Given the description of an element on the screen output the (x, y) to click on. 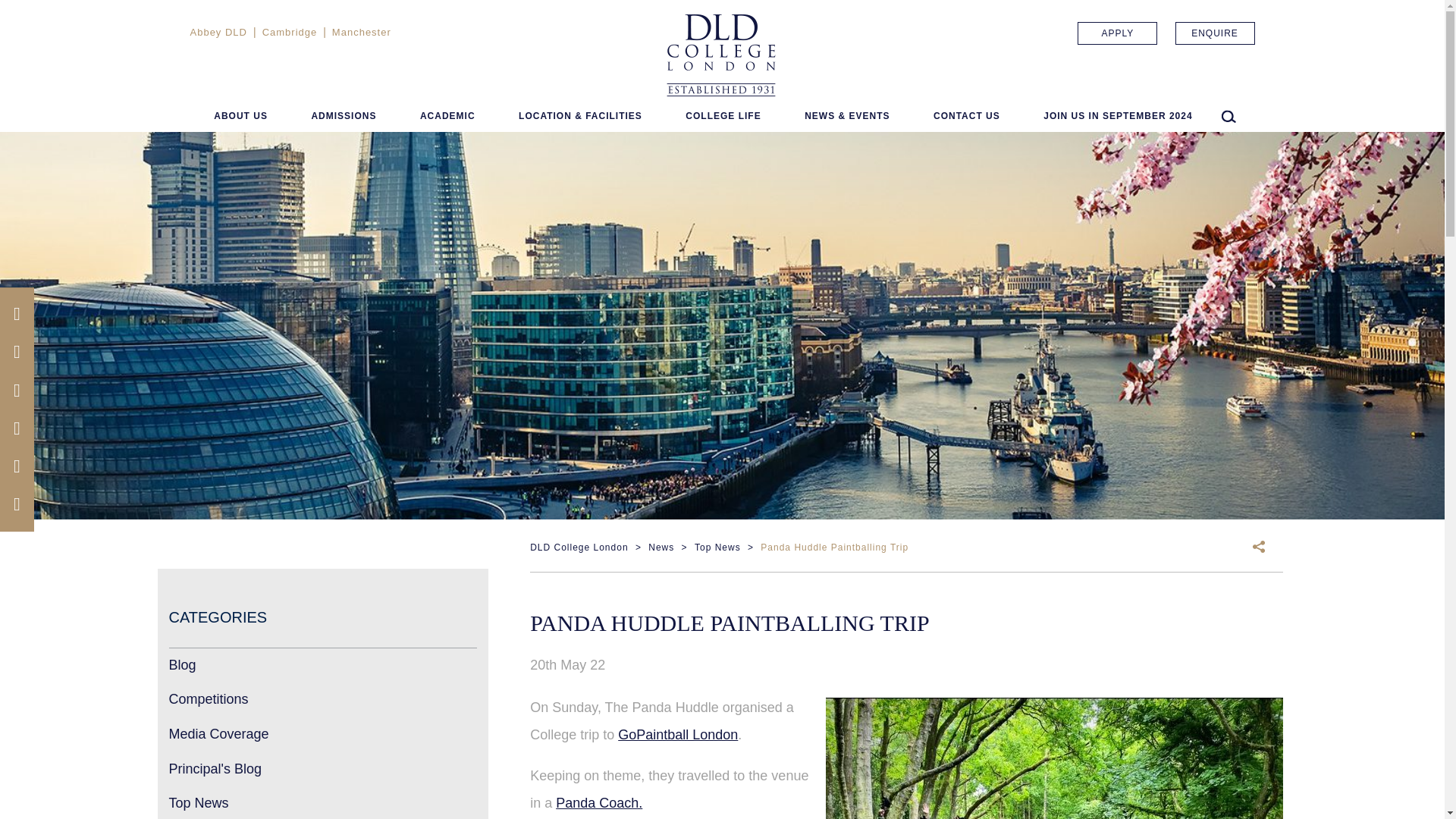
ABOUT US (240, 117)
Go to News. (660, 547)
ENQUIRE (1214, 33)
APPLY (1117, 33)
Go to the Top News category archives. (717, 547)
Go to DLD College London. (578, 547)
Cambridge (289, 32)
ADMISSIONS (343, 117)
Abbey DLD (217, 32)
Manchester (361, 32)
